Given the description of an element on the screen output the (x, y) to click on. 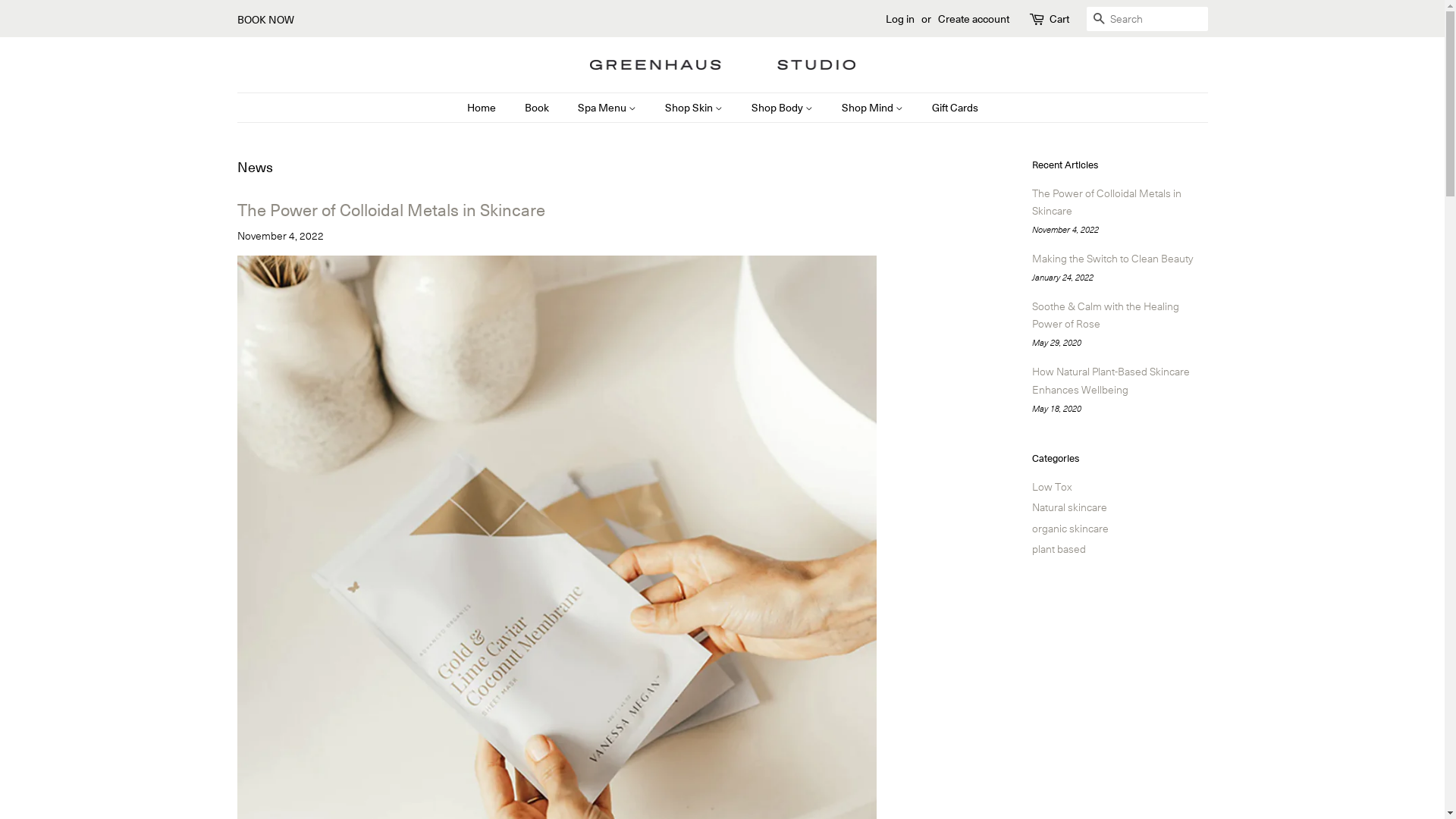
Shop Mind Element type: text (873, 107)
Search Element type: text (1097, 18)
BOOK NOW Element type: text (264, 18)
Shop Skin Element type: text (695, 107)
The Power of Colloidal Metals in Skincare Element type: text (1105, 201)
Gift Cards Element type: text (949, 107)
How Natural Plant-Based Skincare Enhances Wellbeing Element type: text (1110, 379)
Home Element type: text (489, 107)
Spa Menu Element type: text (607, 107)
Log in Element type: text (899, 17)
Create account Element type: text (972, 17)
Book Element type: text (537, 107)
Shop Body Element type: text (784, 107)
Cart Element type: text (1059, 18)
organic skincare Element type: text (1069, 527)
Low Tox Element type: text (1051, 485)
Making the Switch to Clean Beauty Element type: text (1111, 257)
plant based Element type: text (1058, 547)
Soothe & Calm with the Healing Power of Rose Element type: text (1104, 314)
The Power of Colloidal Metals in Skincare Element type: text (390, 208)
Natural skincare Element type: text (1068, 506)
